Given the description of an element on the screen output the (x, y) to click on. 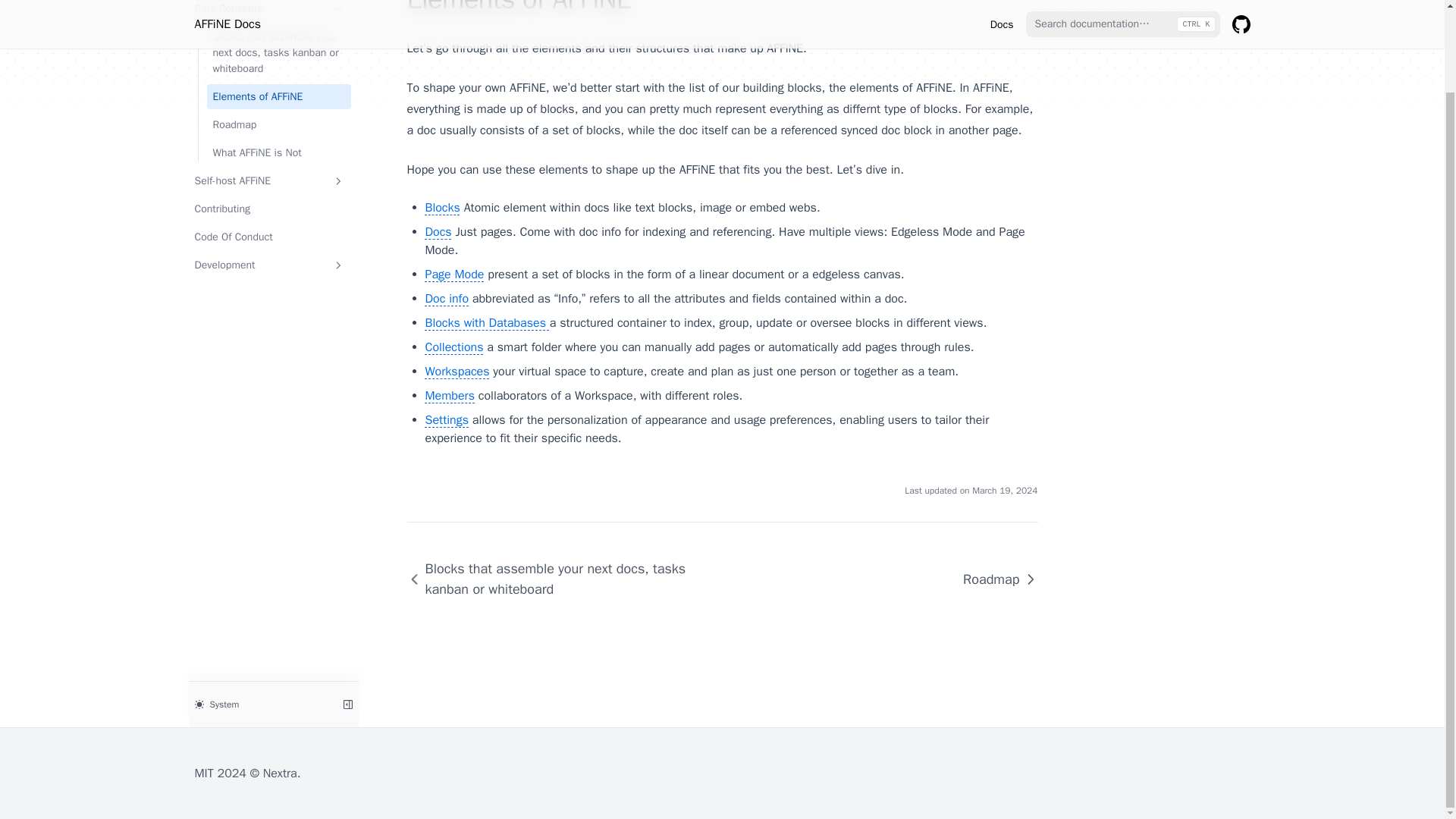
Elements of AFFiNE (278, 96)
Roadmap (993, 578)
Development (268, 264)
Roadmap (278, 124)
Core Concepts (268, 10)
Blocks (442, 207)
Contributing (268, 208)
Docs (438, 231)
Code Of Conduct (268, 236)
System (258, 703)
Self-host AFFiNE (268, 180)
What AFFiNE is Not (278, 152)
Hide sidebar (347, 703)
